Given the description of an element on the screen output the (x, y) to click on. 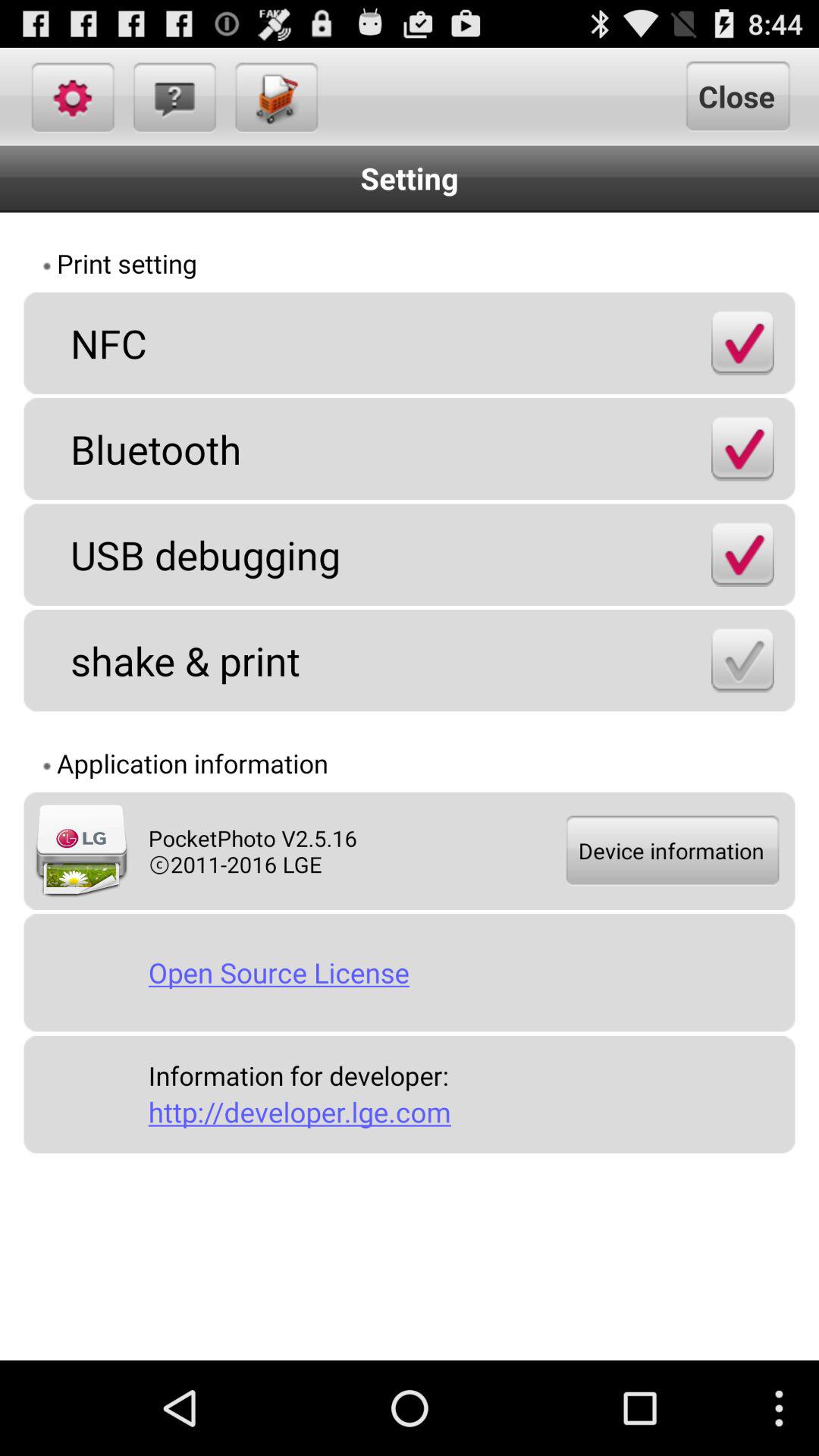
launch item to the right of the shake & print app (742, 659)
